Given the description of an element on the screen output the (x, y) to click on. 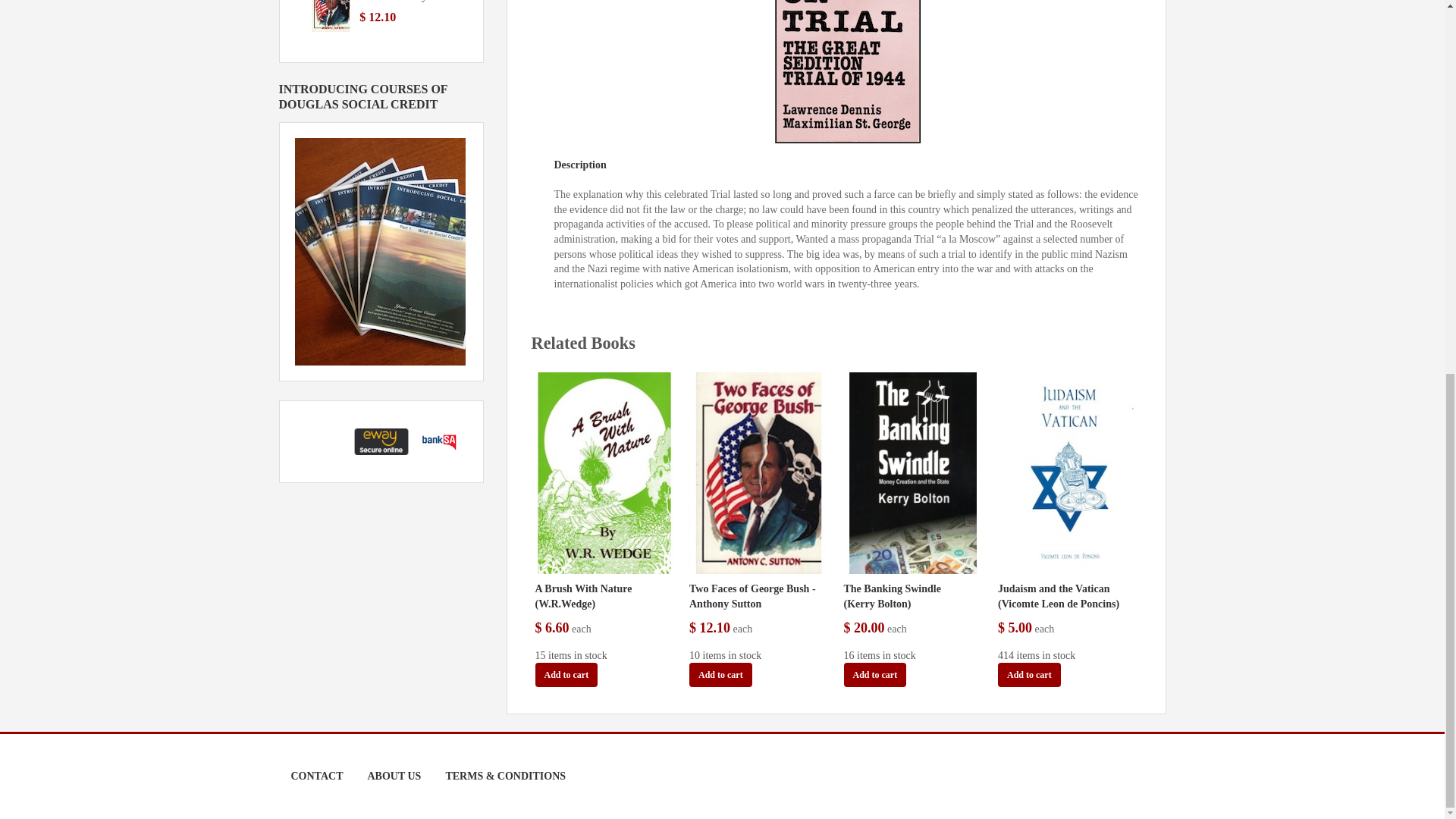
eWAY Payment Gateway (380, 440)
Douglas SociaL Credit Training (379, 250)
Add to cart (566, 674)
BankSA (438, 440)
